Given the description of an element on the screen output the (x, y) to click on. 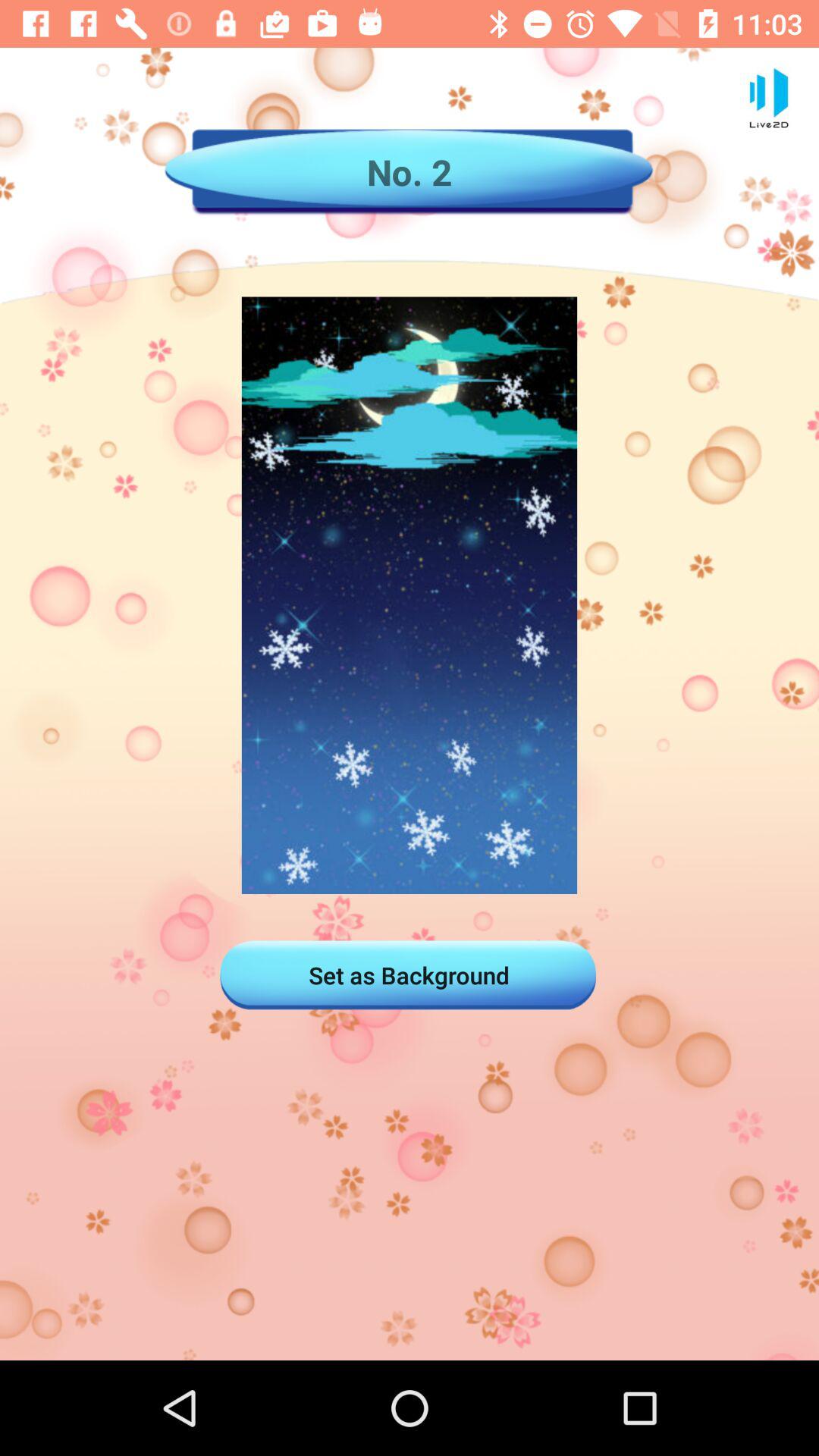
flip until set as background icon (409, 975)
